Given the description of an element on the screen output the (x, y) to click on. 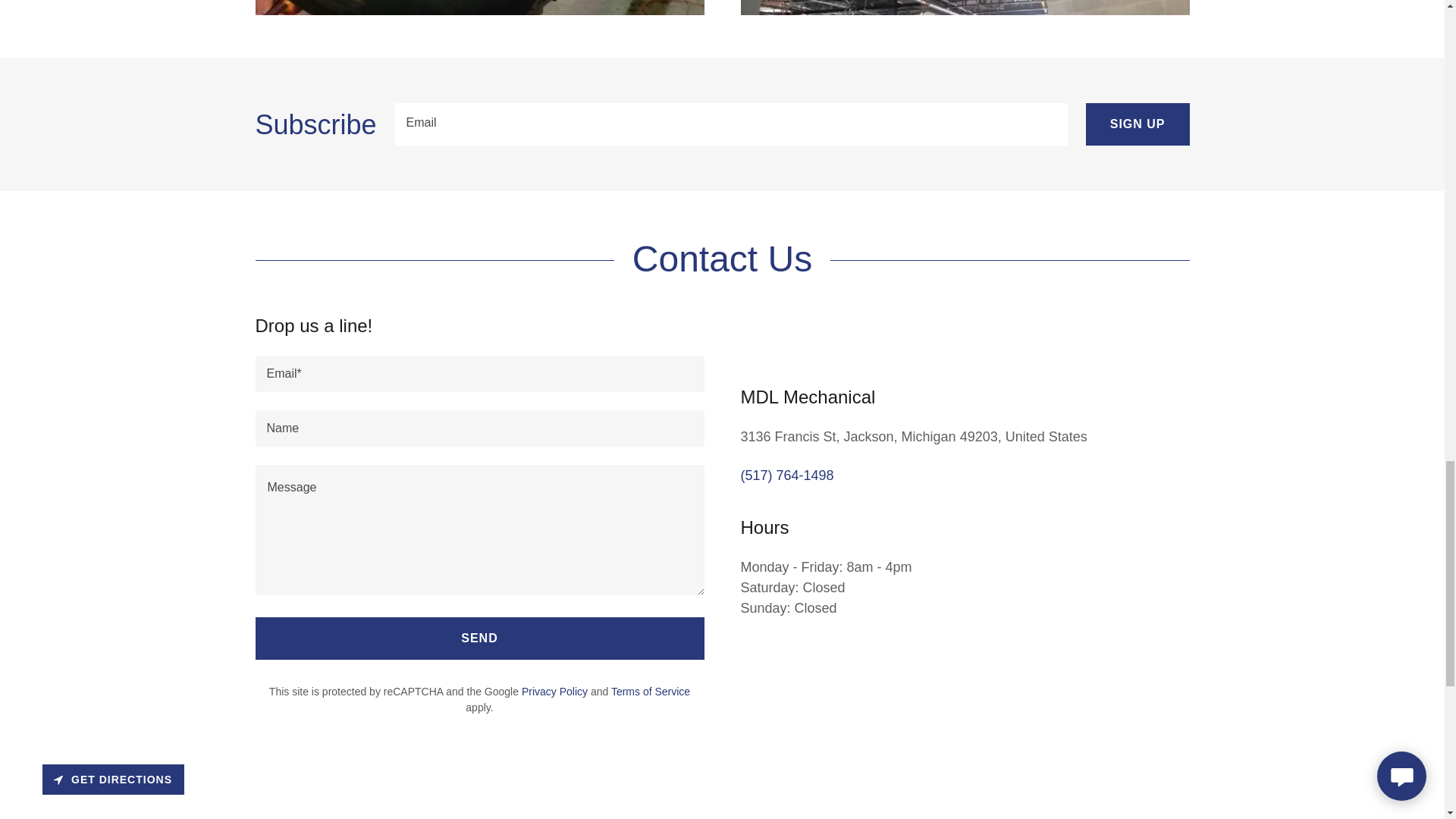
Terms of Service (650, 691)
Privacy Policy (554, 691)
SEND (478, 638)
GET DIRECTIONS (113, 779)
SIGN UP (1137, 124)
